Given the description of an element on the screen output the (x, y) to click on. 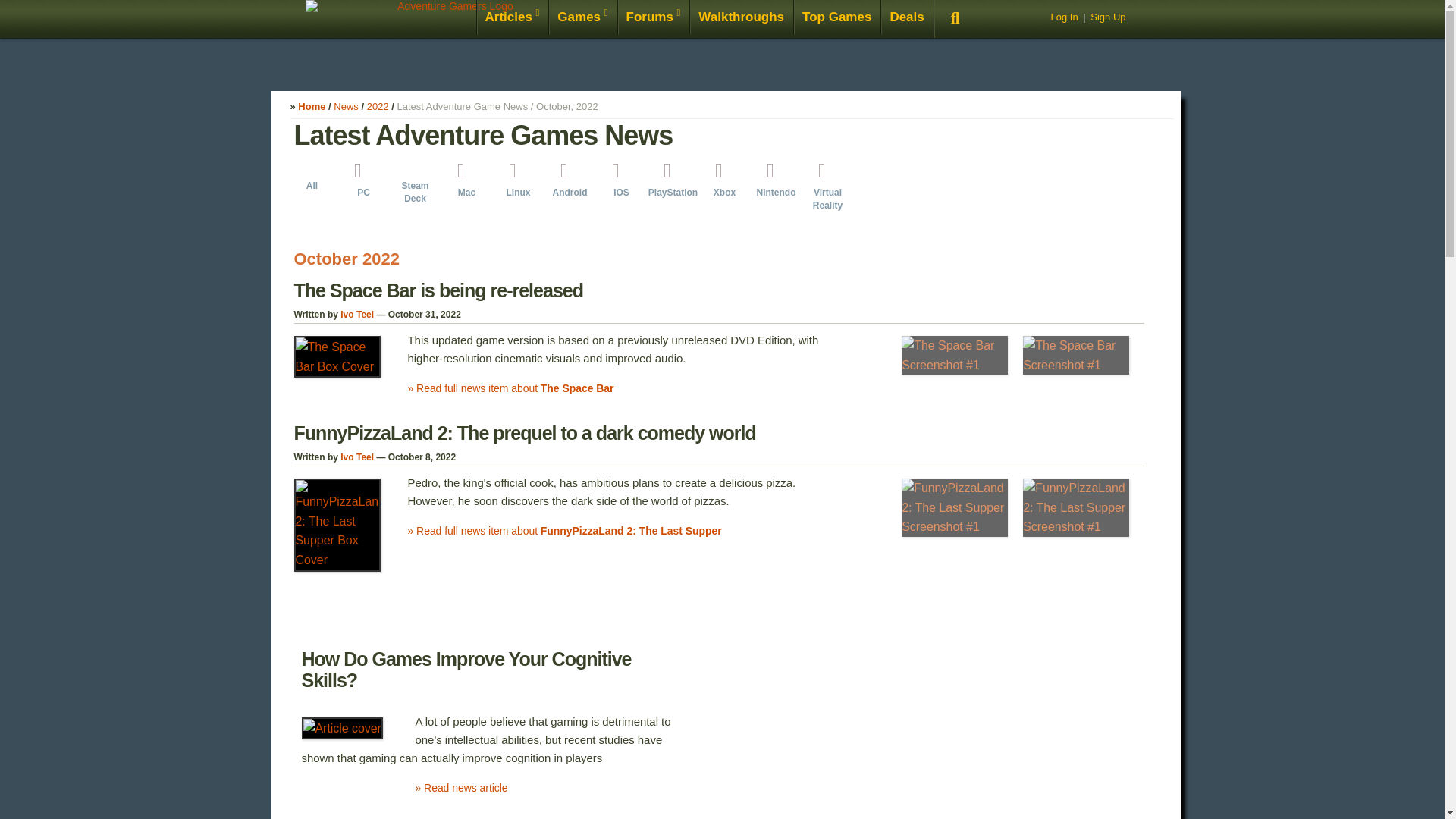
Forums (653, 18)
Log In (1063, 16)
Games (581, 18)
Articles (512, 18)
Sign Up (1107, 16)
